Given the description of an element on the screen output the (x, y) to click on. 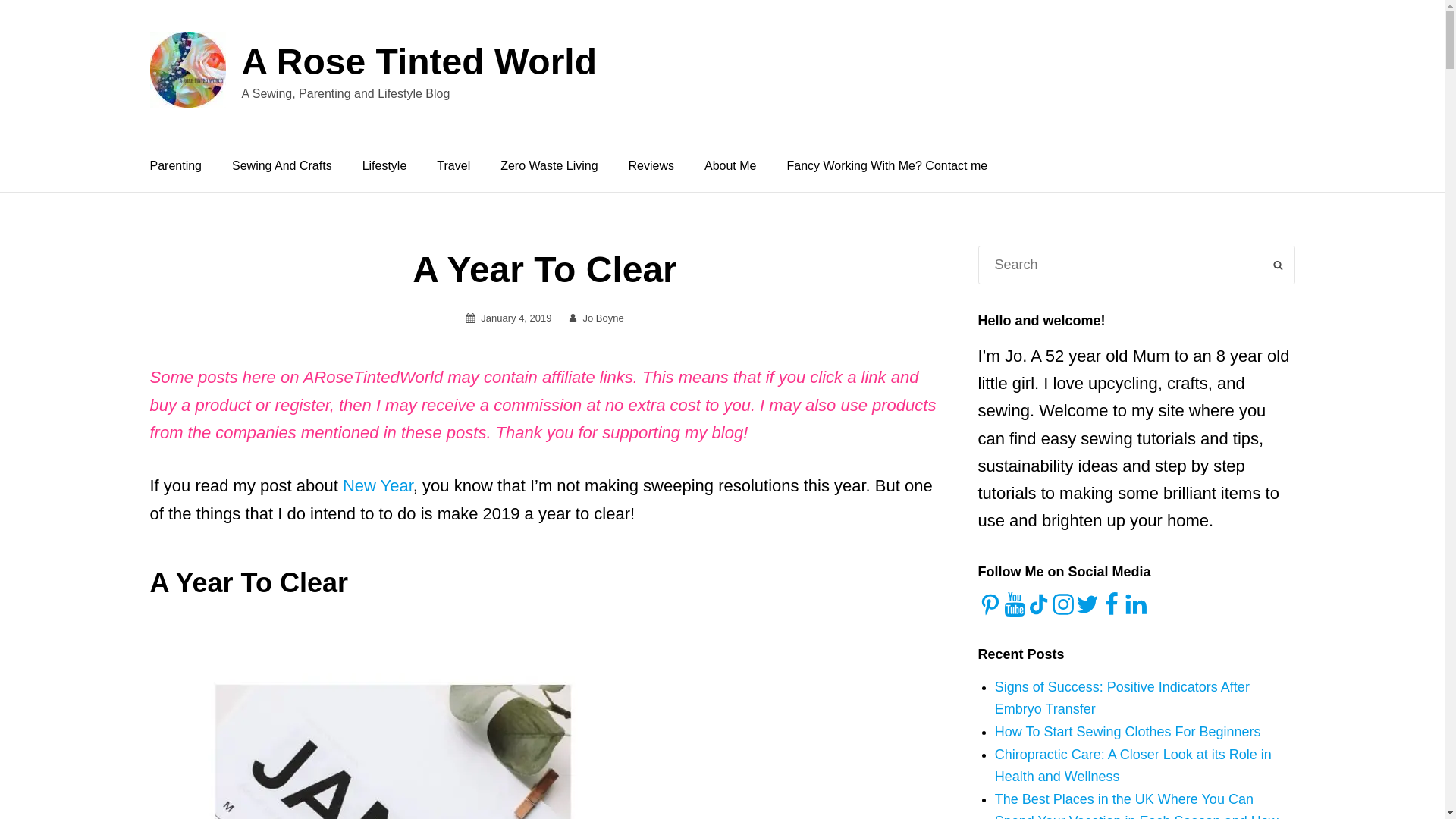
Zero Waste Living (548, 165)
About Me (729, 165)
Parenting (175, 165)
Reviews (650, 165)
A Rose Tinted World (418, 61)
Fancy Working With Me? Contact me (887, 165)
Travel (453, 165)
Lifestyle (384, 165)
January 4, 2019 (515, 317)
Jo Boyne (603, 317)
Sewing And Crafts (281, 165)
New Year (377, 485)
